Given the description of an element on the screen output the (x, y) to click on. 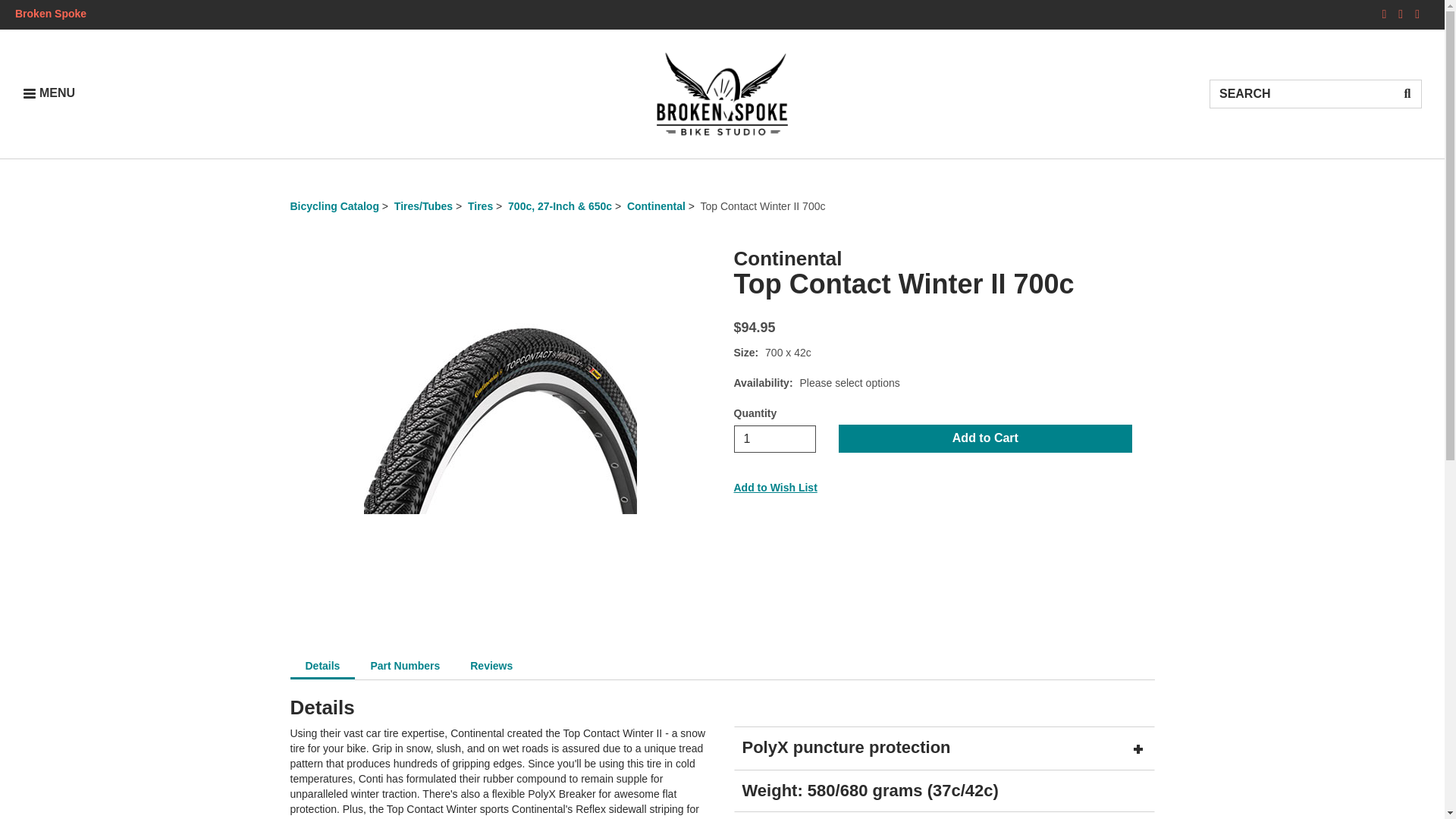
Search (1407, 93)
1 (774, 438)
Continental Top Contact Winter II 700c (500, 418)
Search (1301, 93)
Broken Spoke (49, 13)
Broken Spoke Home Page (49, 93)
